Given the description of an element on the screen output the (x, y) to click on. 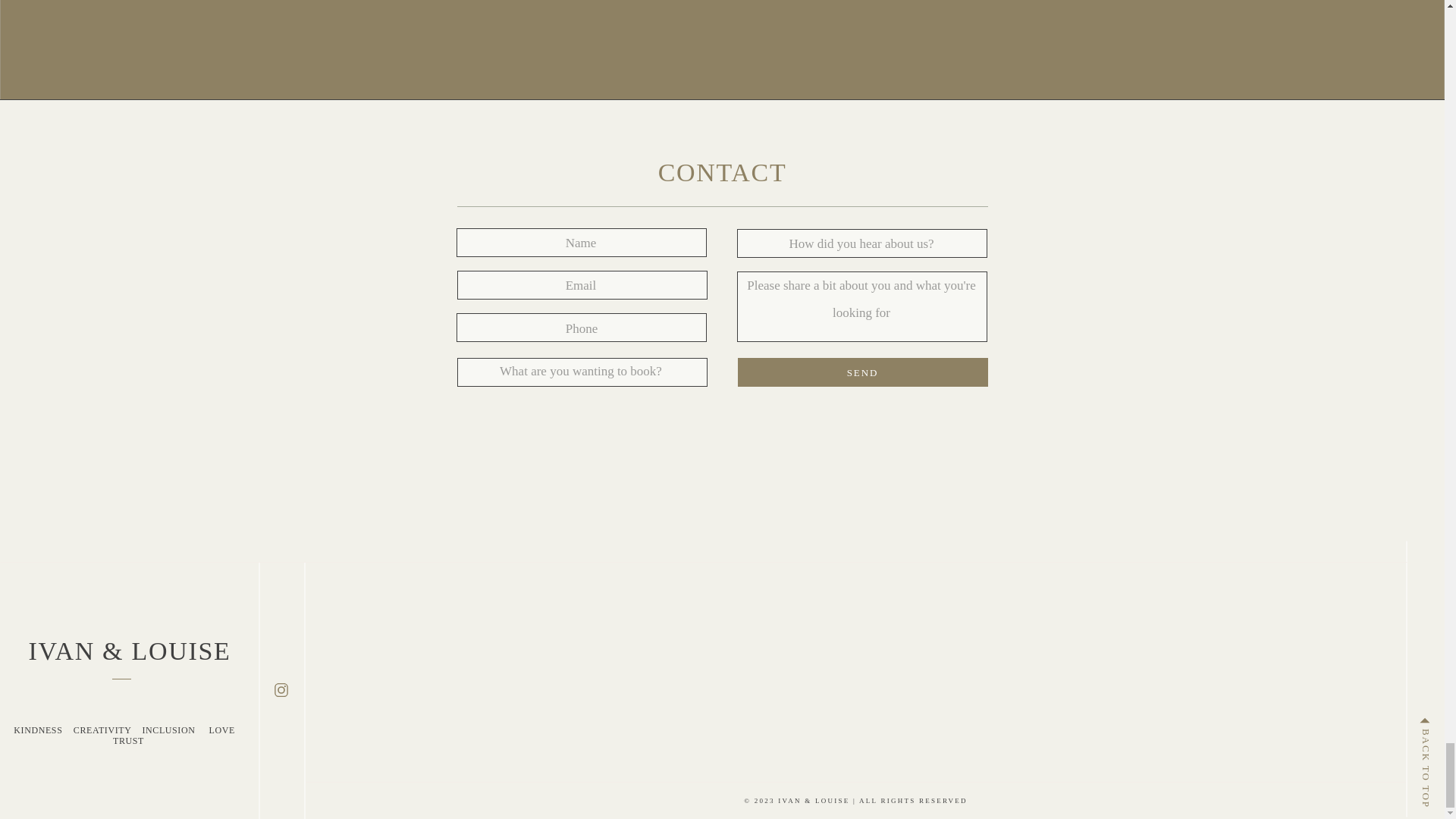
SEND (863, 372)
